Given the description of an element on the screen output the (x, y) to click on. 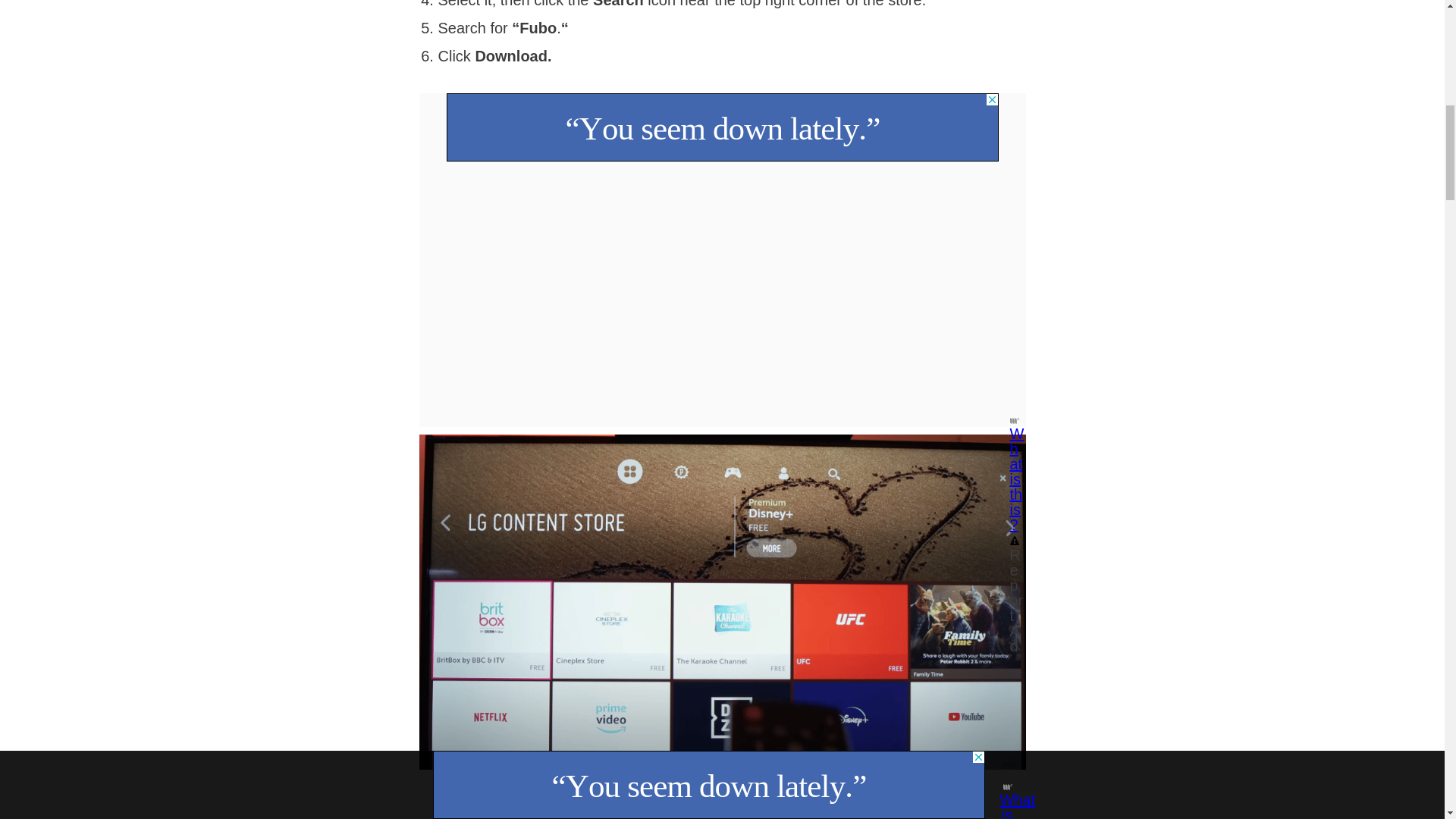
3rd party ad content (721, 127)
